Given the description of an element on the screen output the (x, y) to click on. 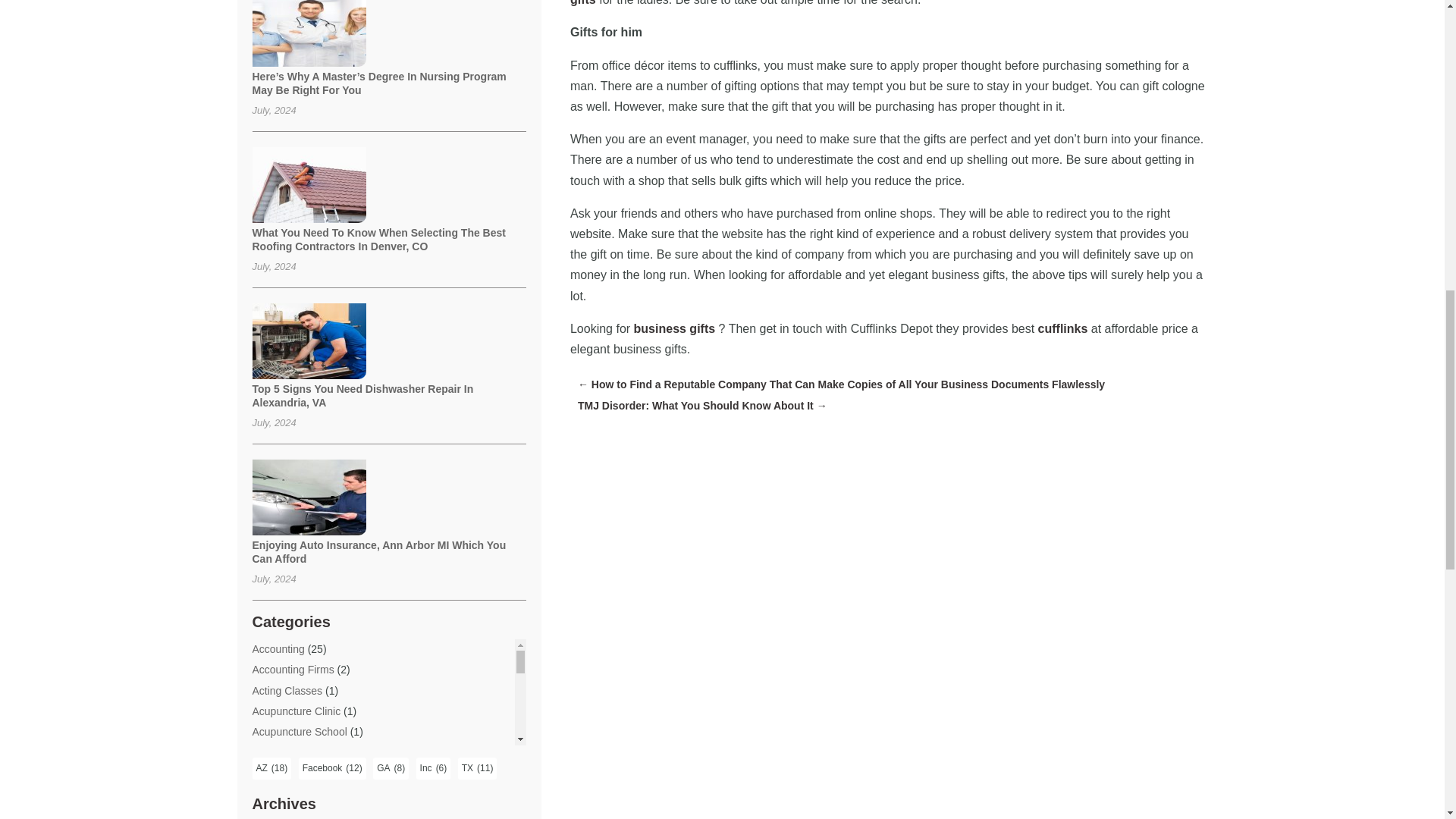
Accounting Firms (292, 669)
Agricultural Service (297, 793)
Enjoying Auto Insurance, Ann Arbor MI Which You Can Afford (378, 551)
Accounting (277, 648)
Adoption (272, 772)
Acupuncture Clinic (295, 711)
Agriculture And Forestry (308, 813)
Addiction Treatment (298, 752)
Acting Classes (286, 690)
Top 5 Signs You Need Dishwasher Repair In Alexandria, VA (362, 395)
Acupuncture School (298, 731)
